Given the description of an element on the screen output the (x, y) to click on. 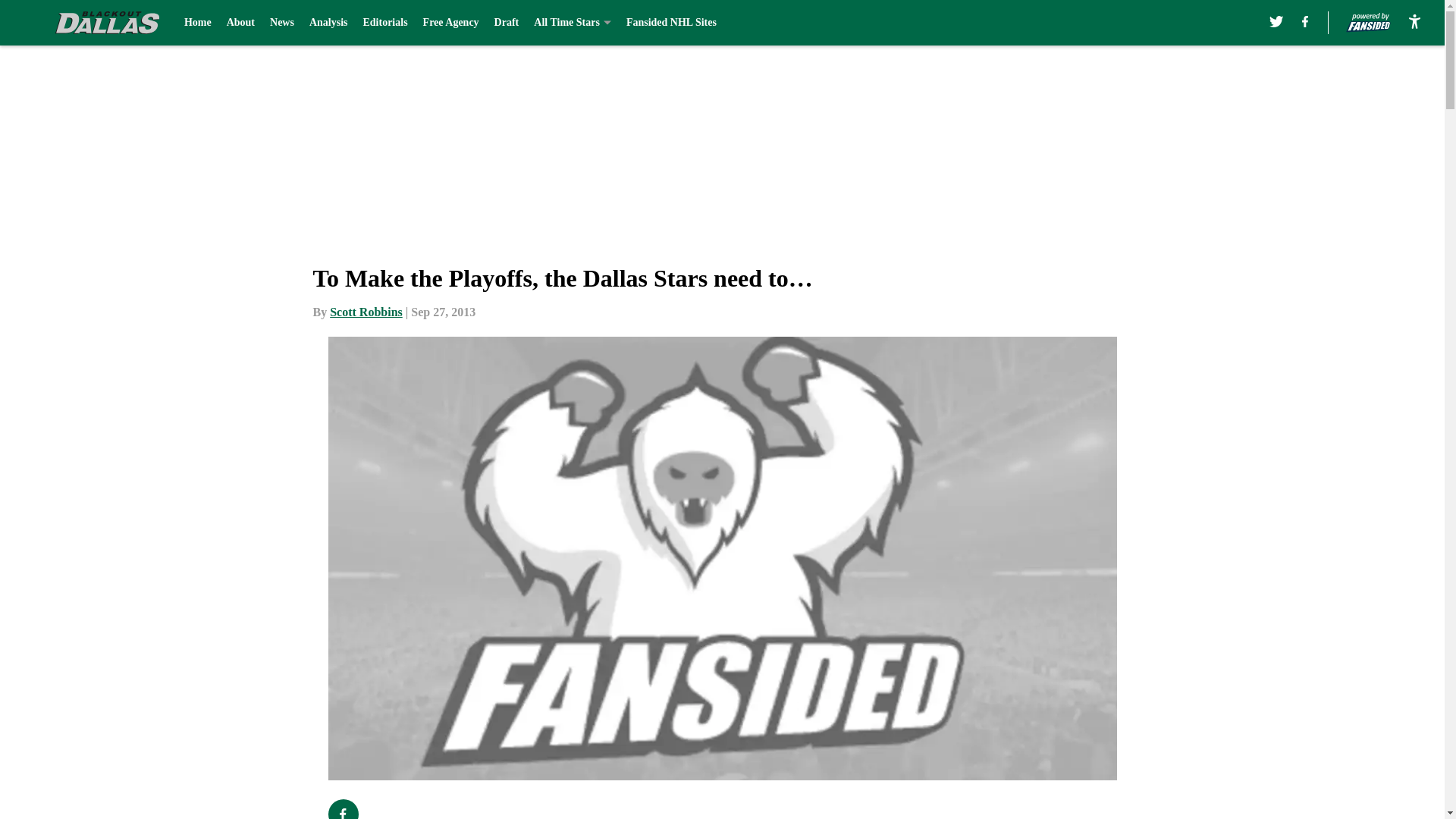
Draft (507, 22)
Home (197, 22)
Free Agency (451, 22)
News (281, 22)
Analysis (327, 22)
About (240, 22)
Scott Robbins (366, 311)
Fansided NHL Sites (671, 22)
Editorials (384, 22)
